Given the description of an element on the screen output the (x, y) to click on. 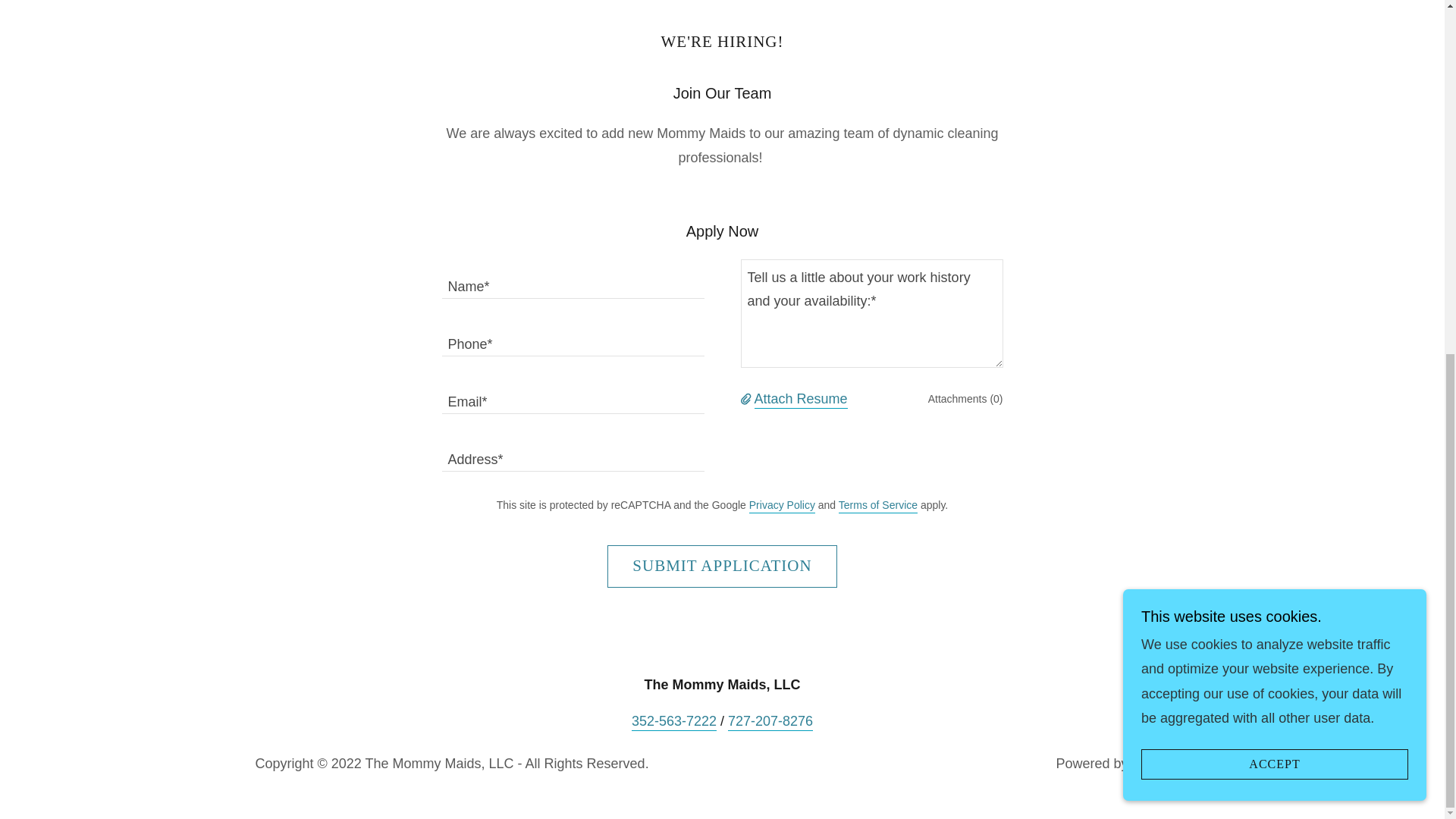
352-563-7222 (673, 722)
GoDaddy (1160, 764)
727-207-8276 (770, 722)
SUBMIT APPLICATION (721, 566)
ACCEPT (1274, 144)
Terms of Service (877, 505)
Privacy Policy (782, 505)
